Given the description of an element on the screen output the (x, y) to click on. 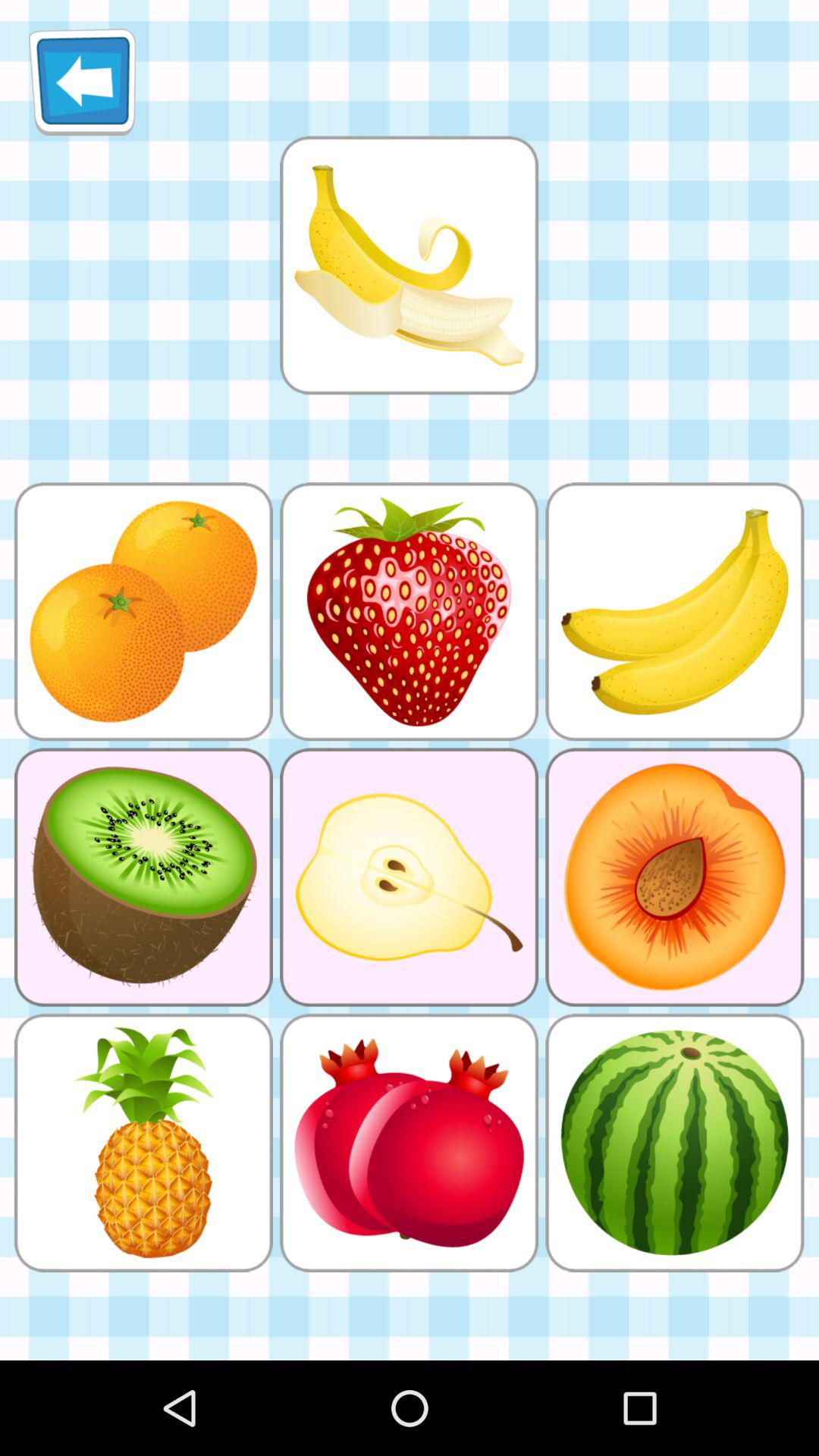
toggle emoji (409, 265)
